Given the description of an element on the screen output the (x, y) to click on. 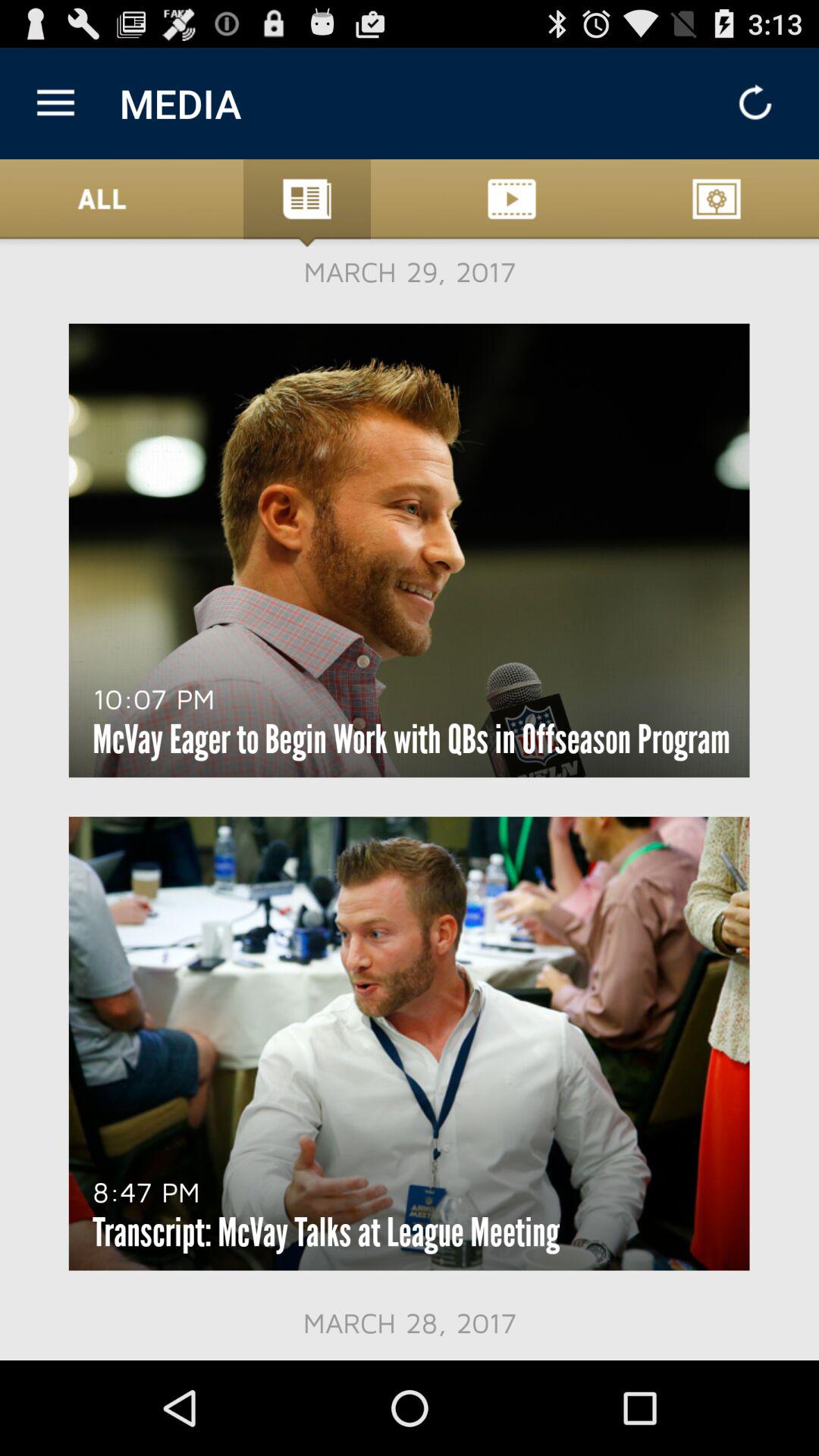
scroll until the transcript mcvay talks (325, 1232)
